Given the description of an element on the screen output the (x, y) to click on. 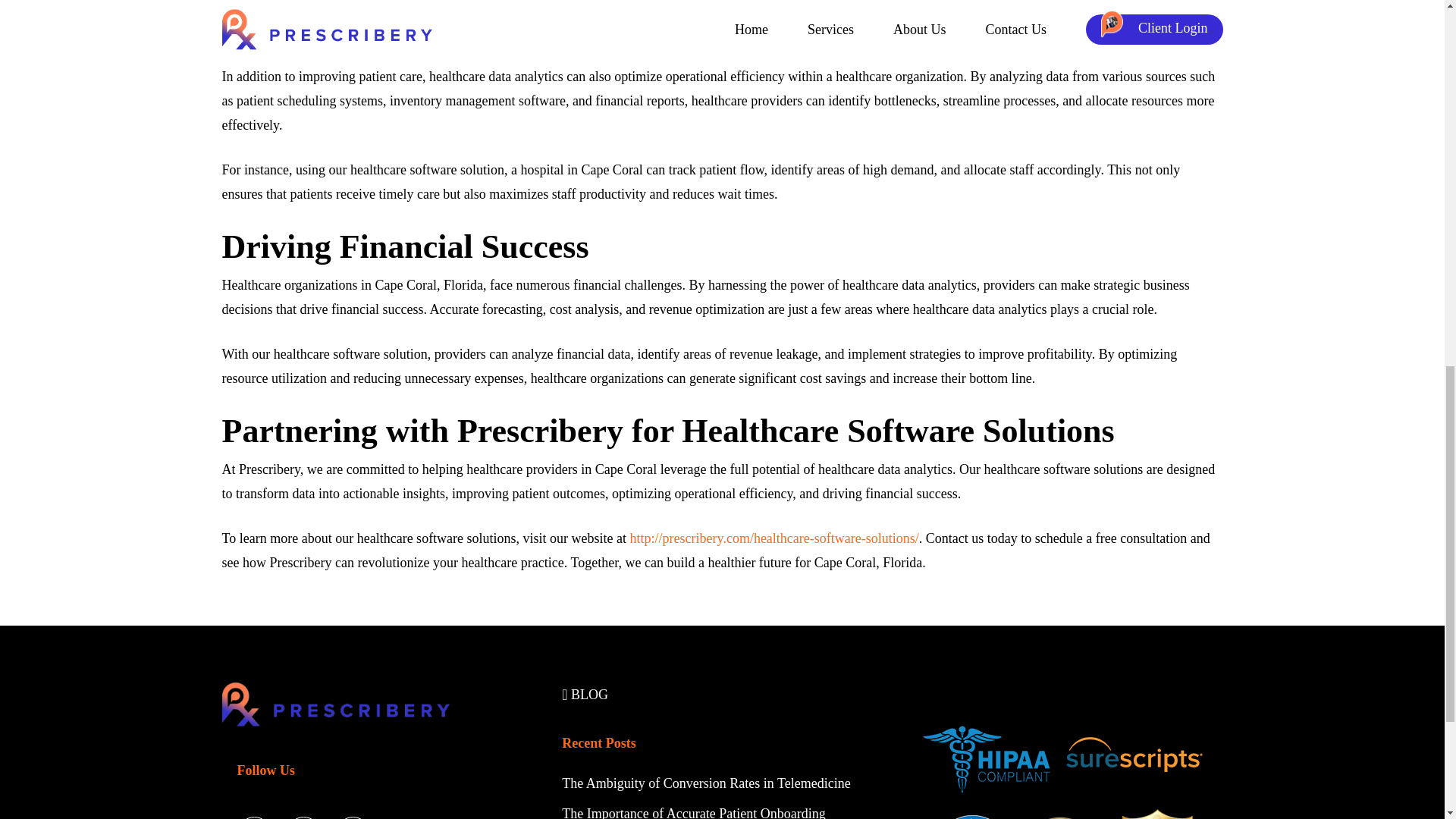
The Ambiguity of Conversion Rates in Telemedicine  (707, 783)
BLOG (585, 694)
The Importance of Accurate Patient Onboarding (693, 812)
